Given the description of an element on the screen output the (x, y) to click on. 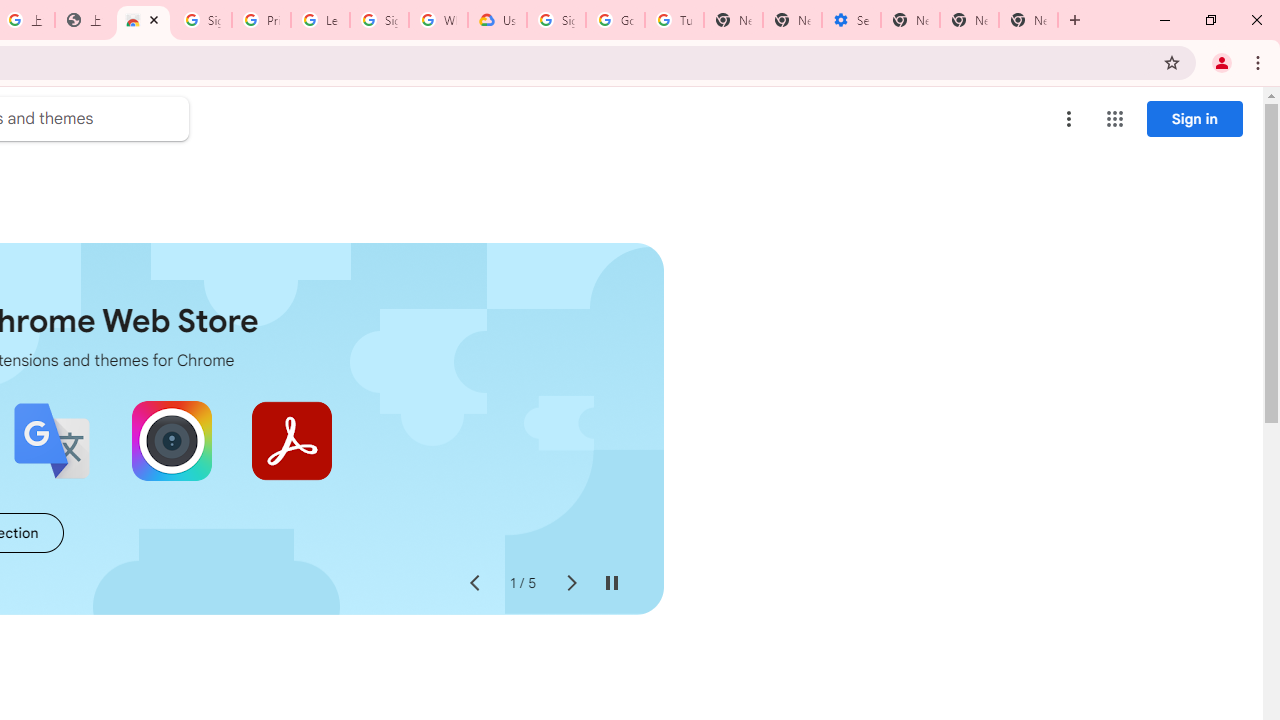
Awesome Screen Recorder & Screenshot (171, 440)
Turn cookies on or off - Computer - Google Account Help (674, 20)
Sign in - Google Accounts (556, 20)
Adobe Acrobat: PDF edit, convert, sign tools (291, 440)
Previous slide (474, 583)
Sign in - Google Accounts (379, 20)
Google Account Help (615, 20)
